Given the description of an element on the screen output the (x, y) to click on. 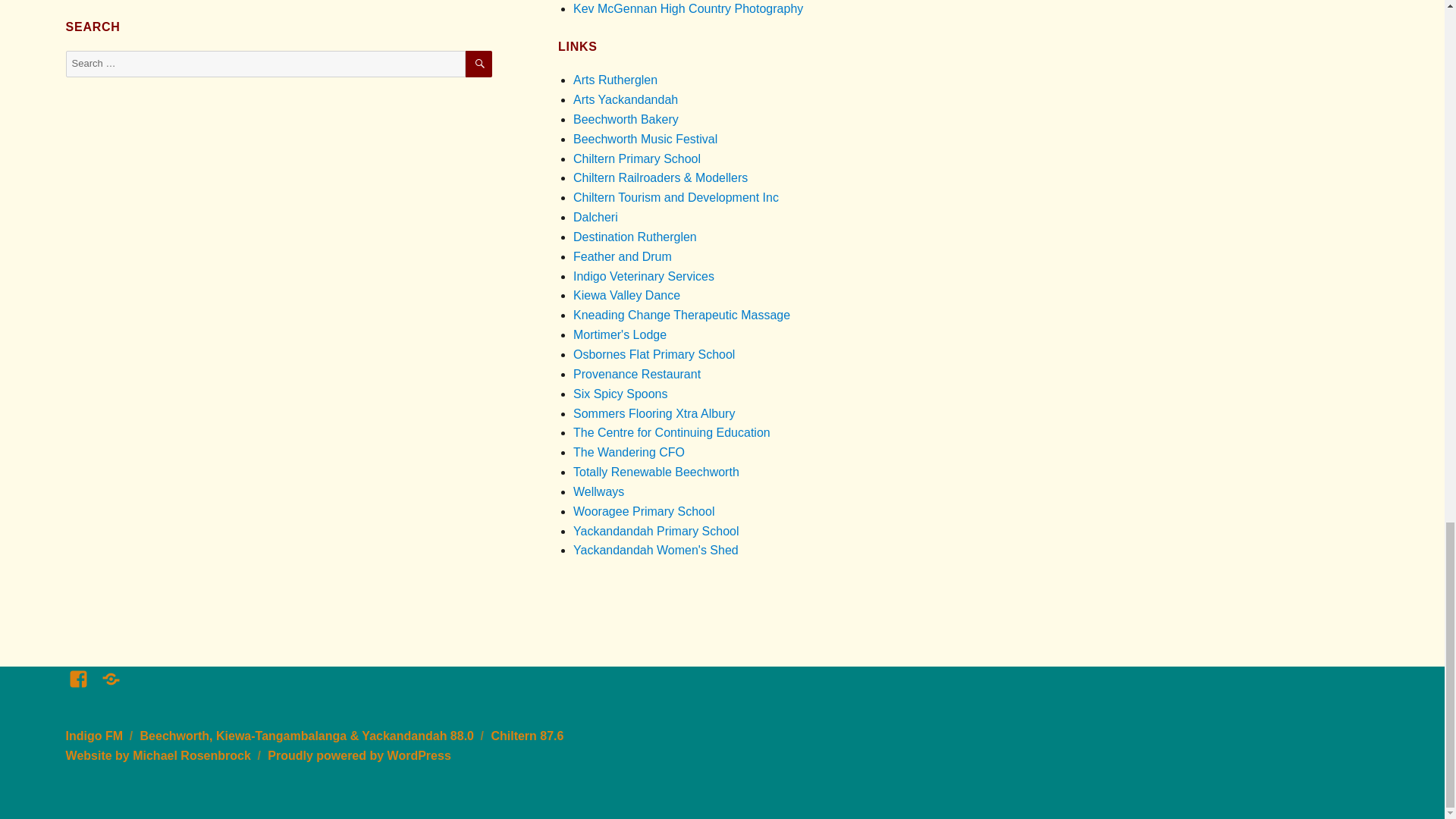
SEARCH (478, 63)
